Given the description of an element on the screen output the (x, y) to click on. 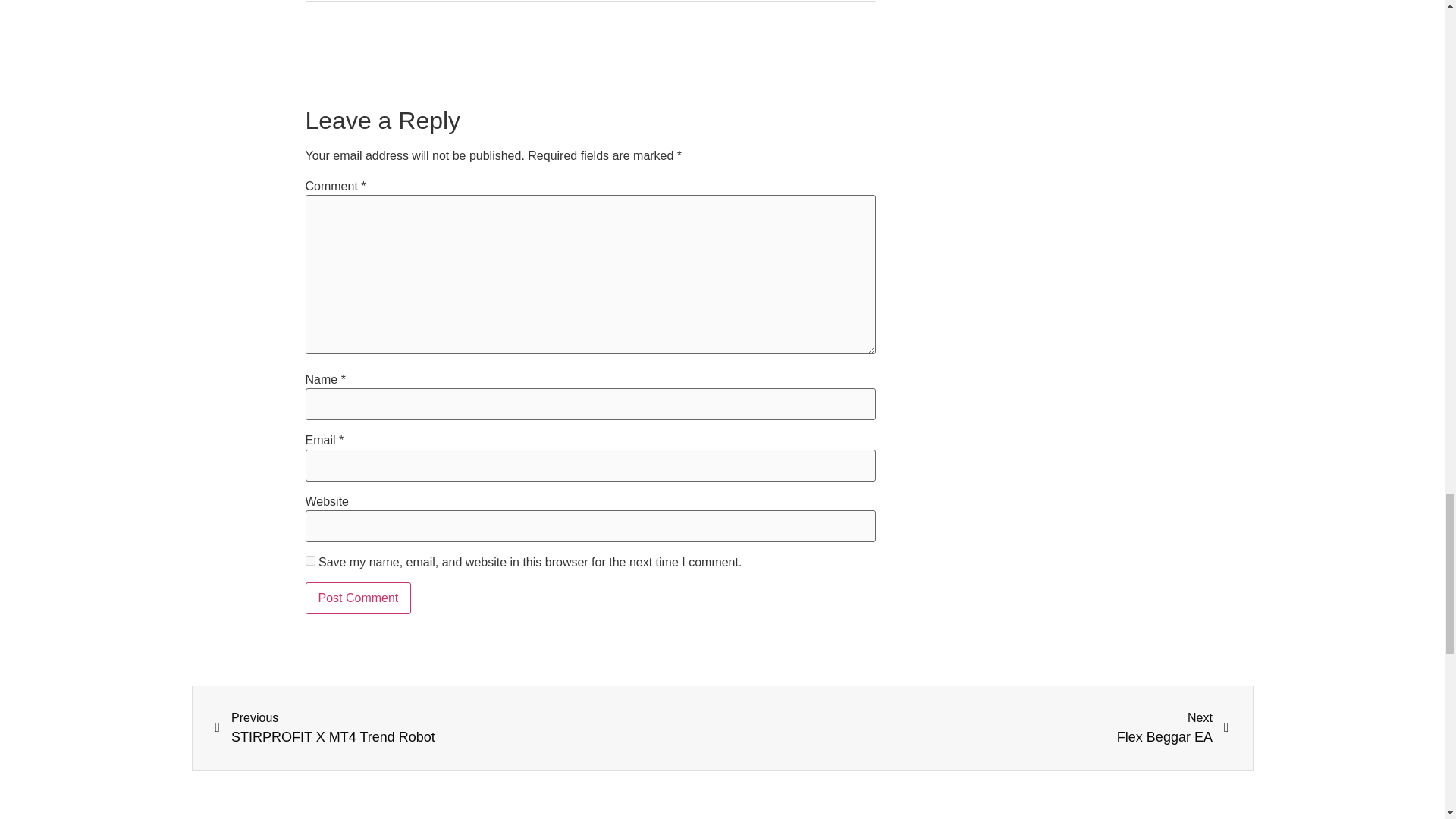
yes (309, 560)
Post Comment (357, 598)
Post Comment (357, 598)
